Given the description of an element on the screen output the (x, y) to click on. 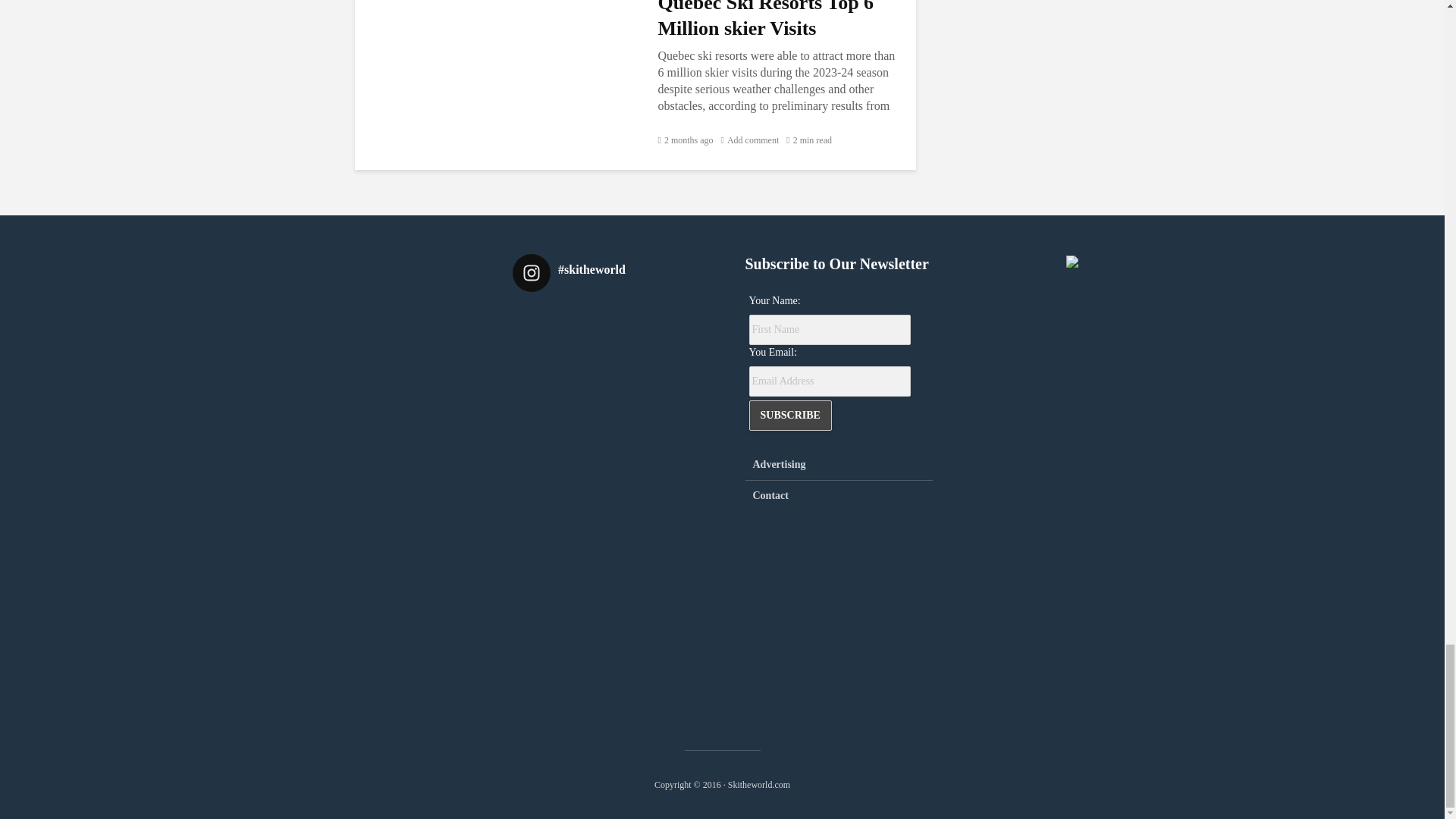
Subscribe (790, 415)
